Given the description of an element on the screen output the (x, y) to click on. 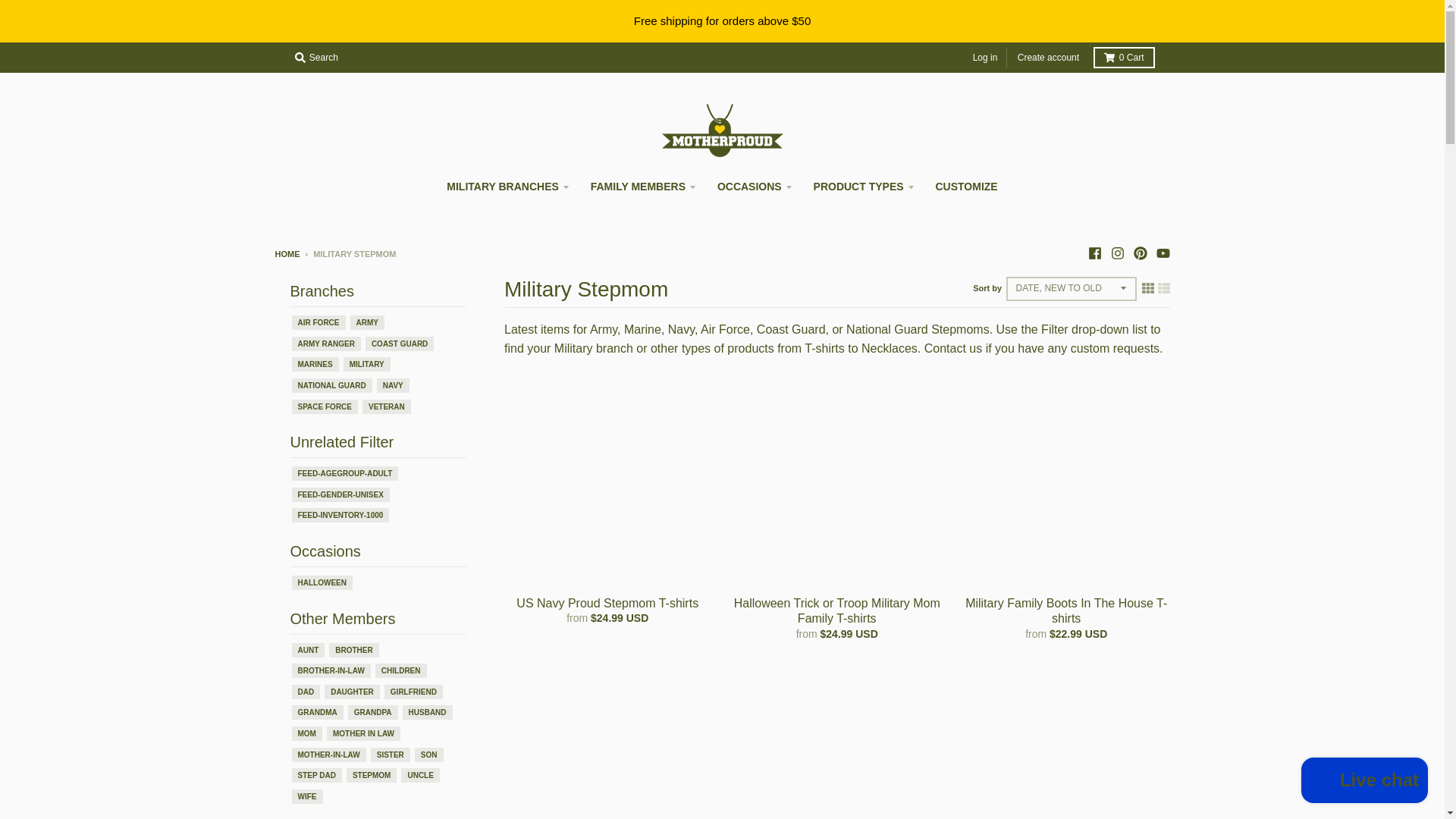
Search (315, 56)
PRODUCT TYPES (863, 185)
Pinterest - MotherProud (1139, 253)
MILITARY BRANCHES (507, 185)
Log in (985, 57)
0 Cart (1123, 56)
Facebook - MotherProud (1093, 253)
Back to the frontpage (287, 253)
OCCASIONS (753, 185)
YouTube - MotherProud (1162, 253)
